Given the description of an element on the screen output the (x, y) to click on. 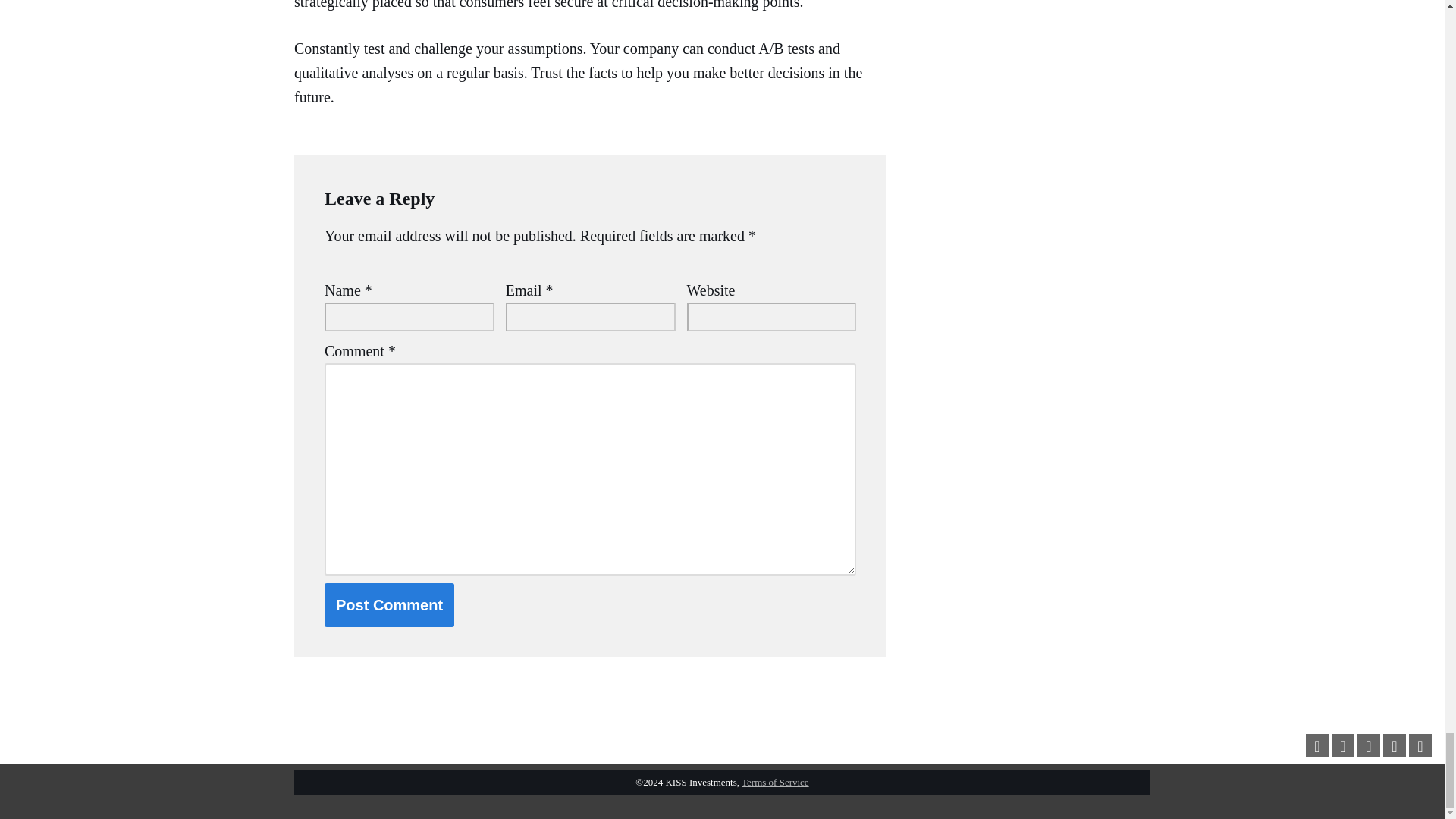
Post Comment (389, 605)
instagram (1343, 744)
facebook (1316, 745)
pinterest (1368, 745)
linkedin (1394, 744)
instagram (1342, 745)
linkedin (1393, 745)
quora (1420, 744)
quora (1419, 745)
pinterest (1368, 744)
facebook (1316, 744)
